Given the description of an element on the screen output the (x, y) to click on. 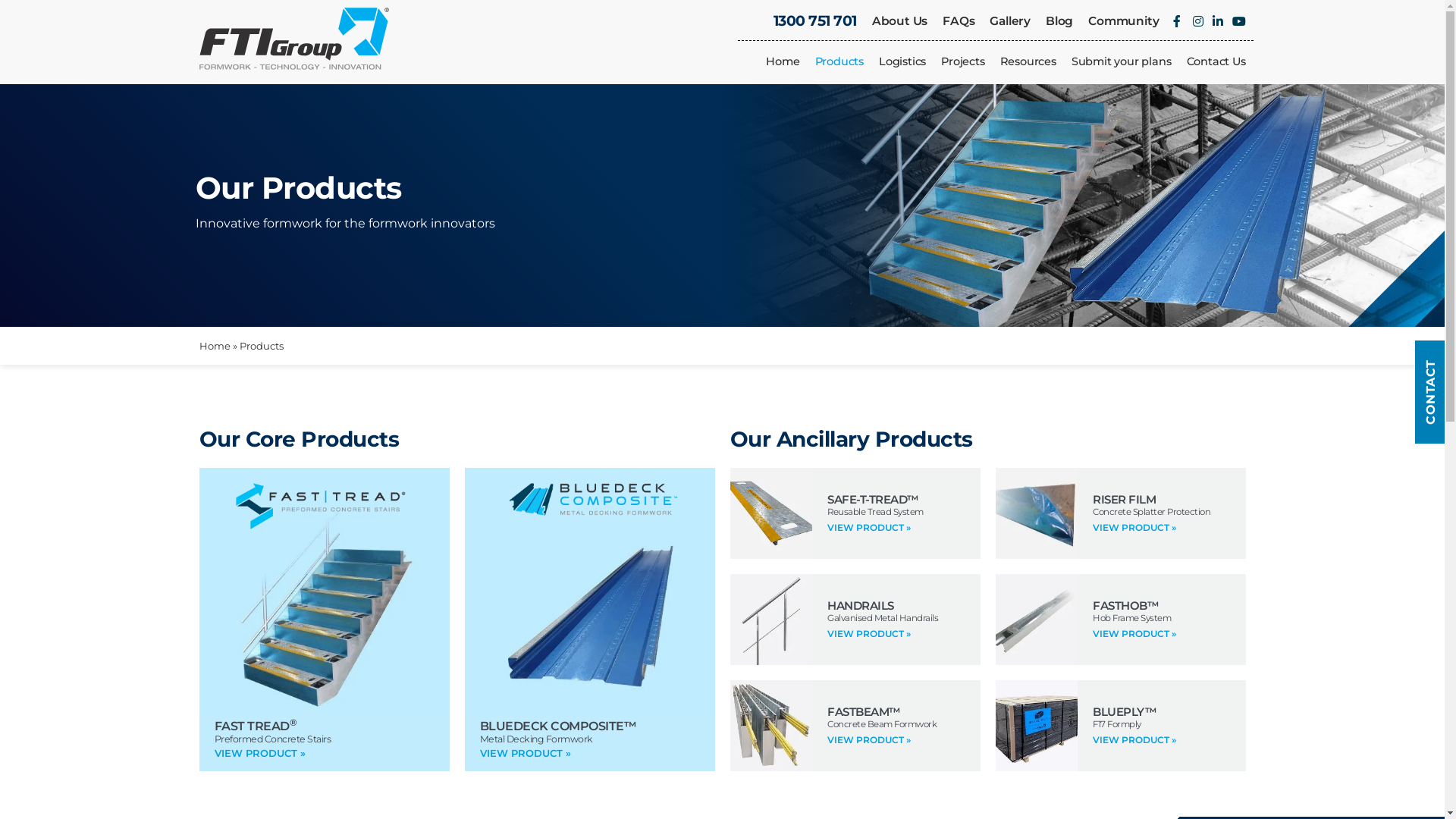
Contact Us Element type: text (1215, 61)
About Us Element type: text (899, 20)
Home Element type: text (782, 61)
Community Element type: text (1123, 20)
Home Element type: text (213, 345)
FAQs Element type: text (958, 20)
Gallery Element type: text (1010, 20)
Blog Element type: text (1059, 20)
Logistics Element type: text (902, 61)
fast-tread-logo Element type: hover (319, 505)
Submit your plans Element type: text (1121, 61)
Projects Element type: text (962, 61)
FTI-Group-logo Element type: hover (293, 38)
Products Element type: text (839, 61)
Resources Element type: text (1027, 61)
BlueDeck-Composite-logo Element type: hover (593, 498)
